Given the description of an element on the screen output the (x, y) to click on. 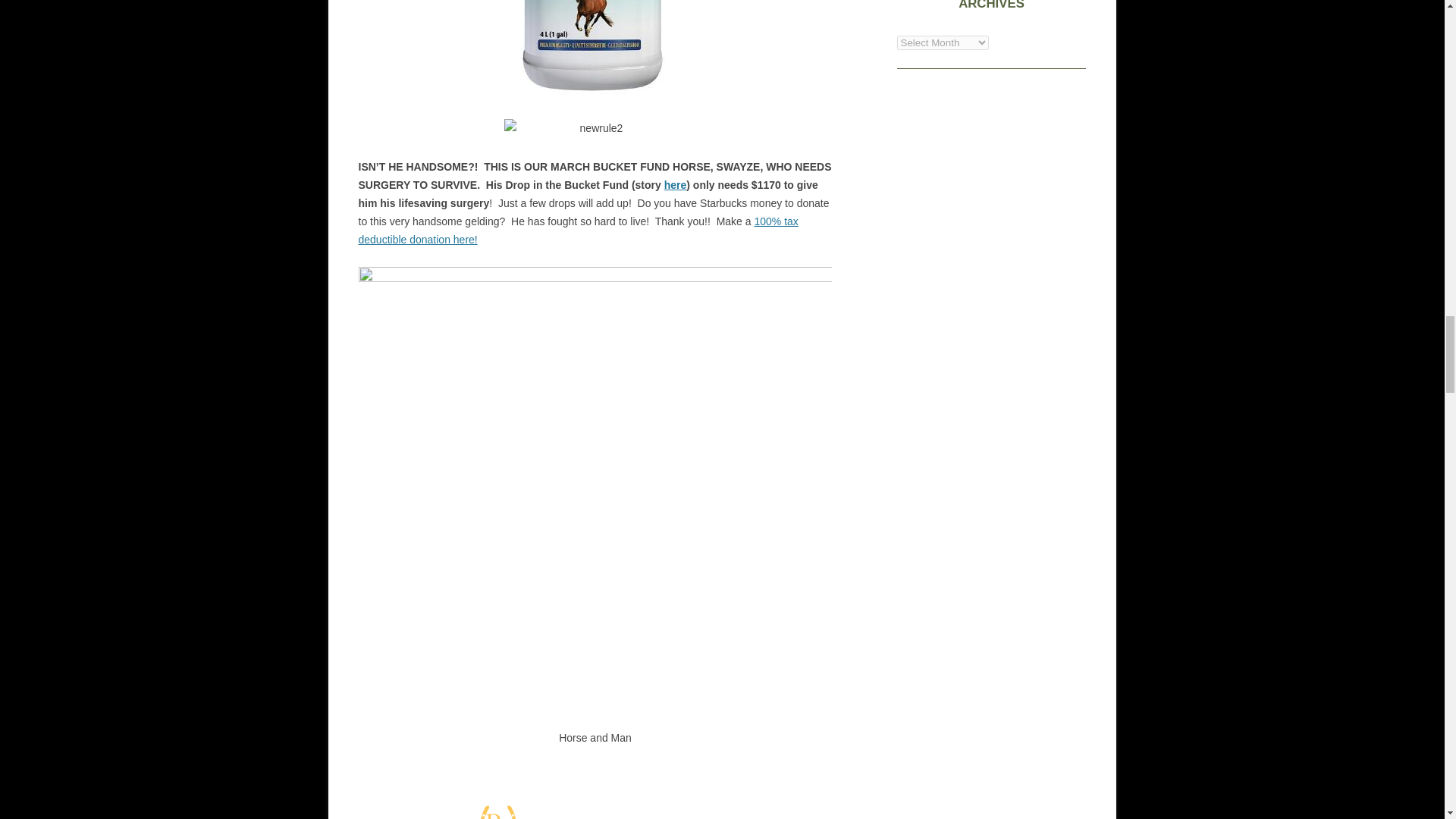
here (675, 184)
